Given the description of an element on the screen output the (x, y) to click on. 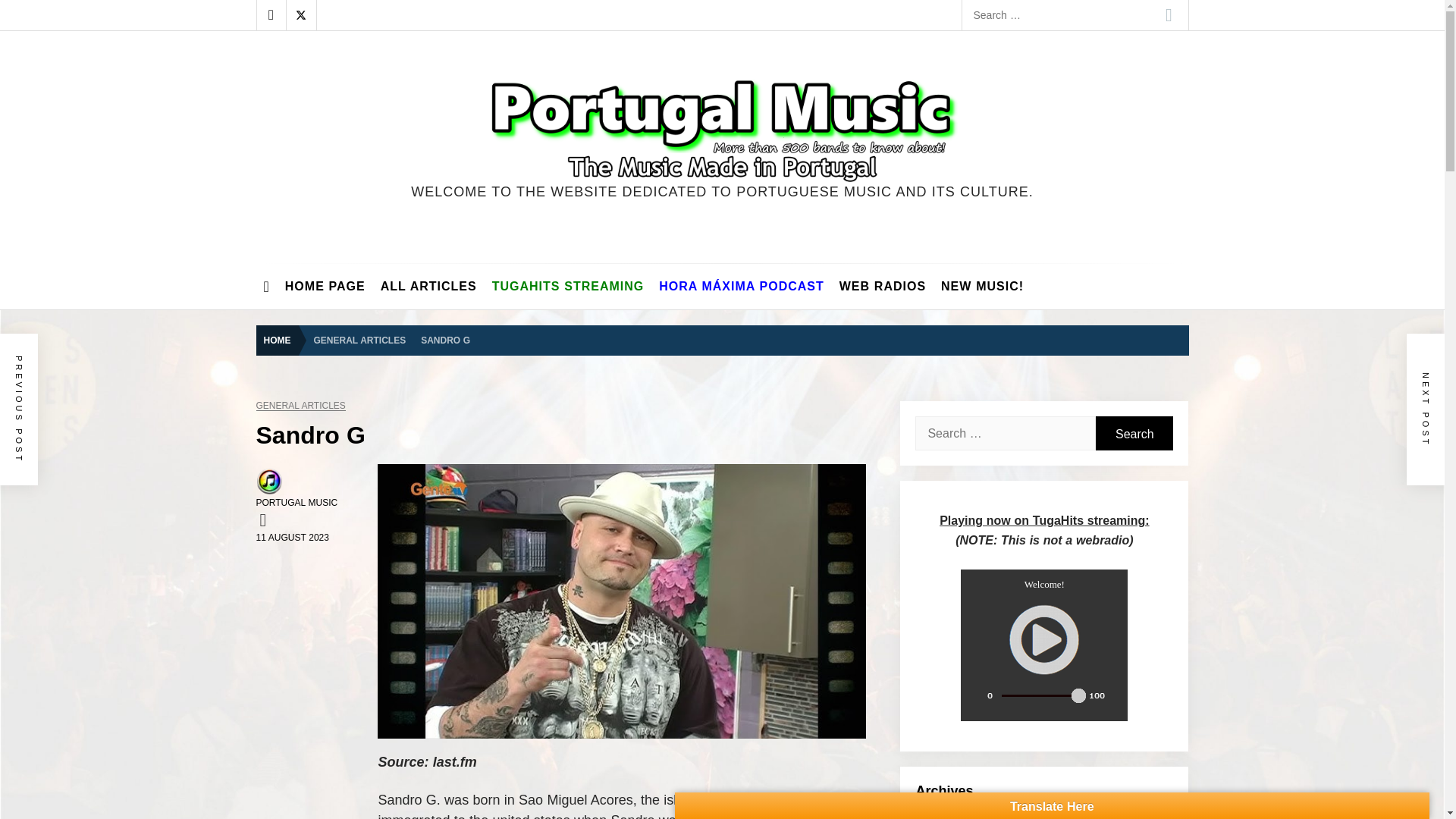
SANDRO G (445, 338)
11 AUGUST 2023 (292, 537)
Search (1169, 15)
TUGAHITS STREAMING (568, 286)
HOME (280, 340)
Search (1134, 433)
Search (1169, 15)
PORTUGAL MUSIC (296, 502)
WEB RADIOS (882, 286)
GENERAL ARTICLES (359, 338)
